Given the description of an element on the screen output the (x, y) to click on. 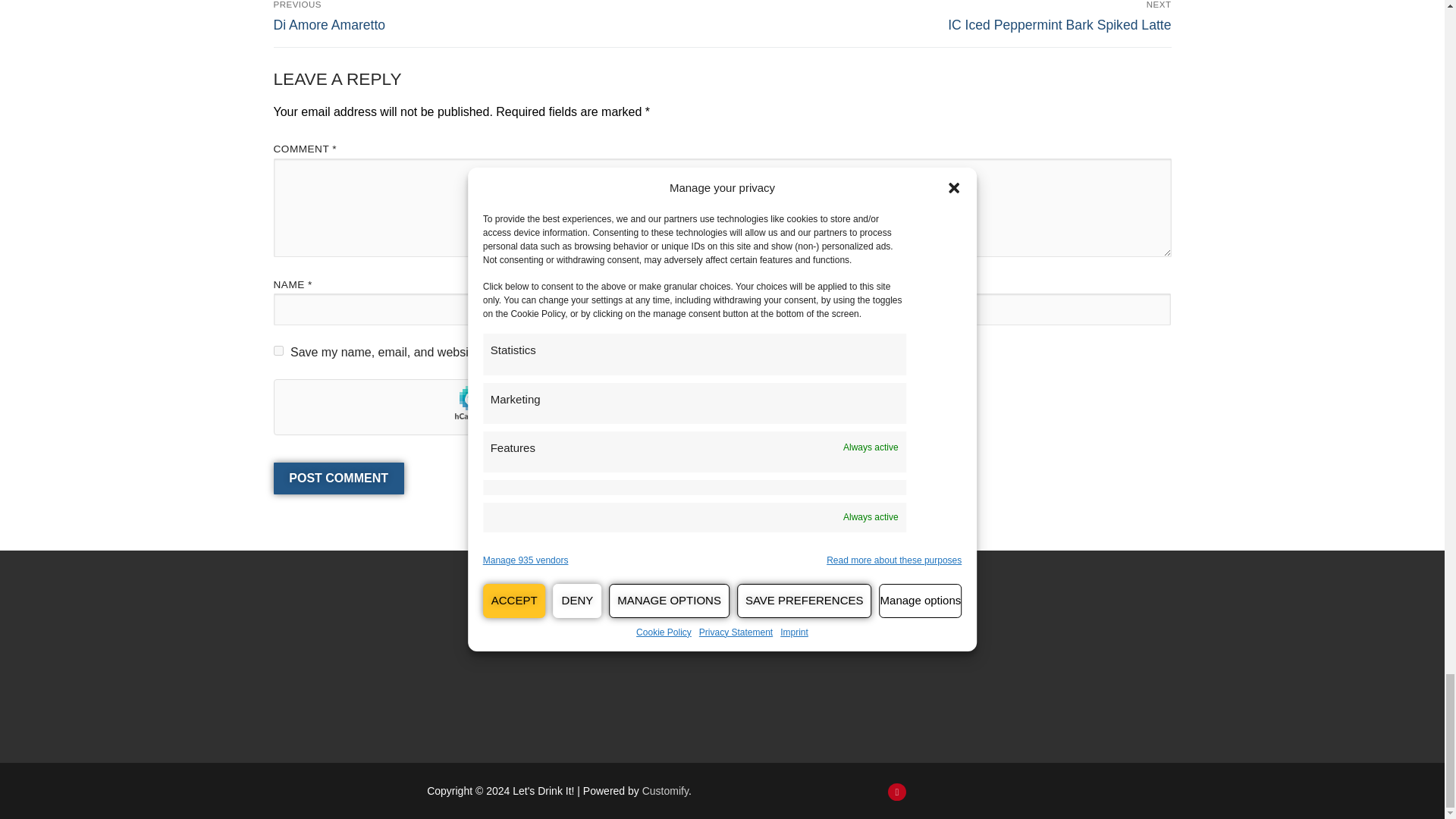
Post Comment (338, 478)
yes (277, 350)
Pinterest (896, 791)
